Given the description of an element on the screen output the (x, y) to click on. 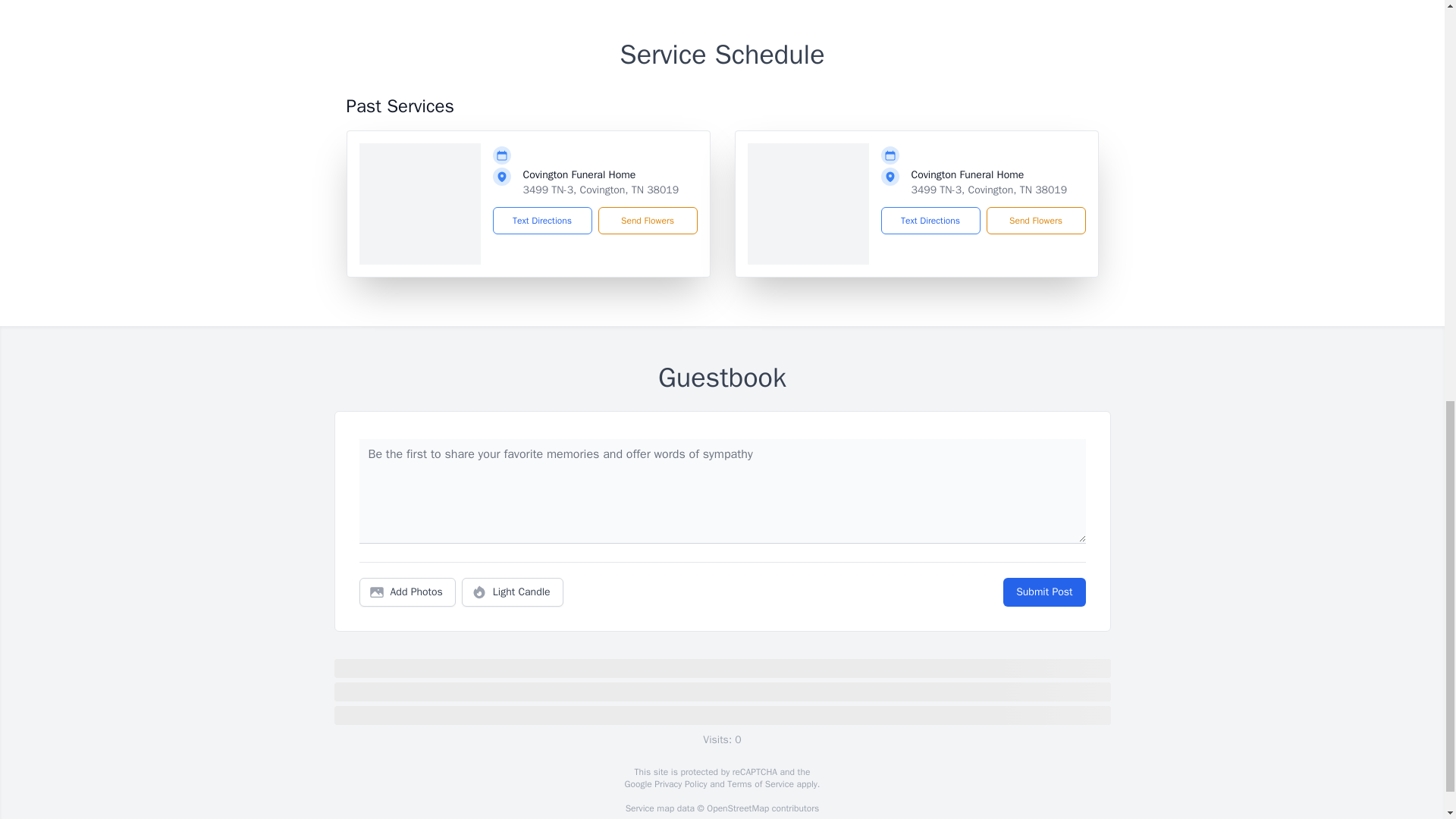
Send Flowers (1034, 220)
Text Directions (929, 220)
Add Photos (407, 592)
Send Flowers (646, 220)
Terms of Service (759, 784)
Privacy Policy (679, 784)
3499 TN-3, Covington, TN 38019 (600, 189)
Submit Post (1043, 592)
Light Candle (512, 592)
OpenStreetMap (737, 808)
3499 TN-3, Covington, TN 38019 (989, 189)
Text Directions (542, 220)
